Given the description of an element on the screen output the (x, y) to click on. 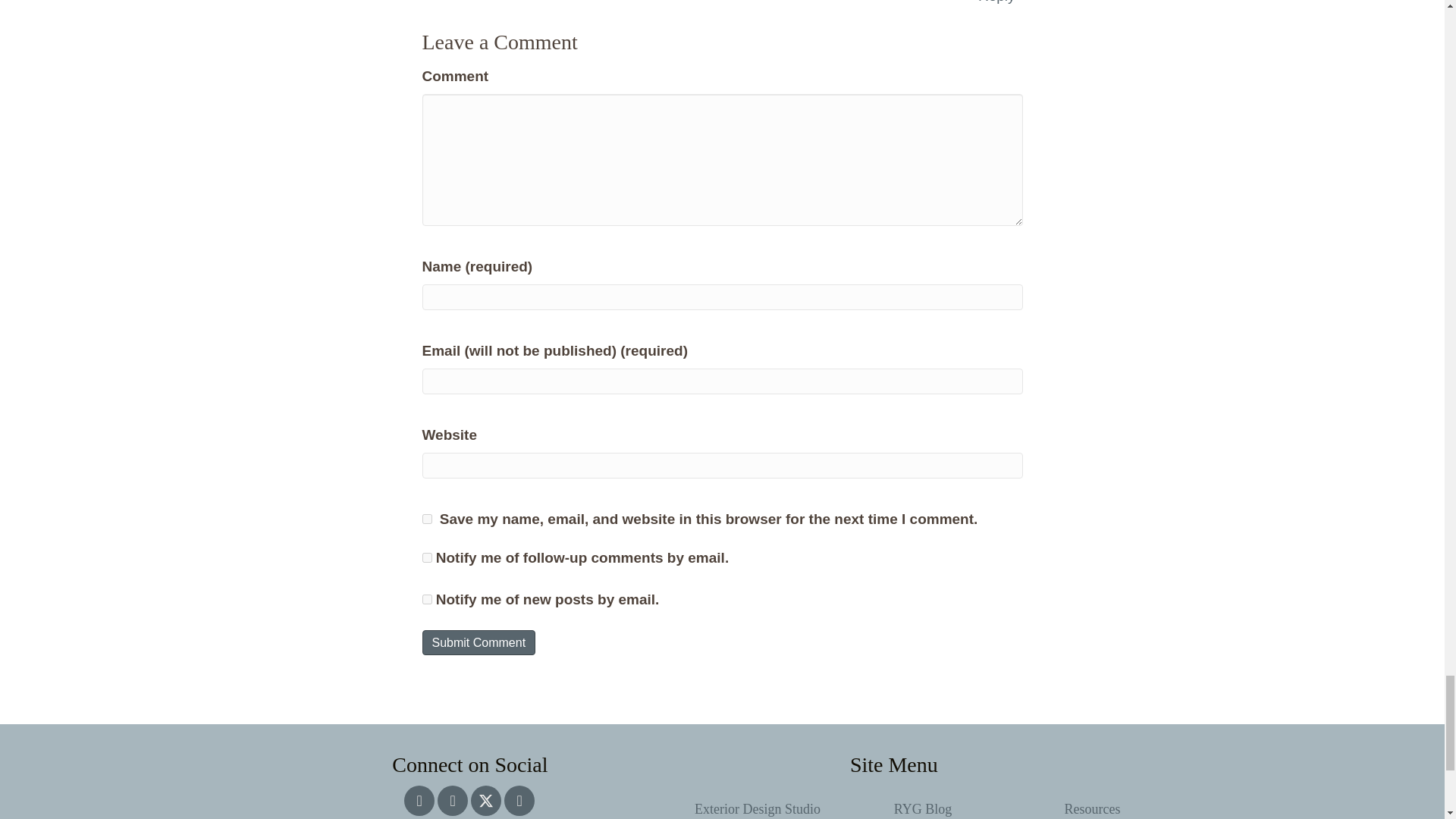
Submit Comment (478, 642)
Facebook (452, 800)
subscribe (426, 599)
subscribe (426, 557)
yes (426, 519)
Instagram (418, 800)
